Given the description of an element on the screen output the (x, y) to click on. 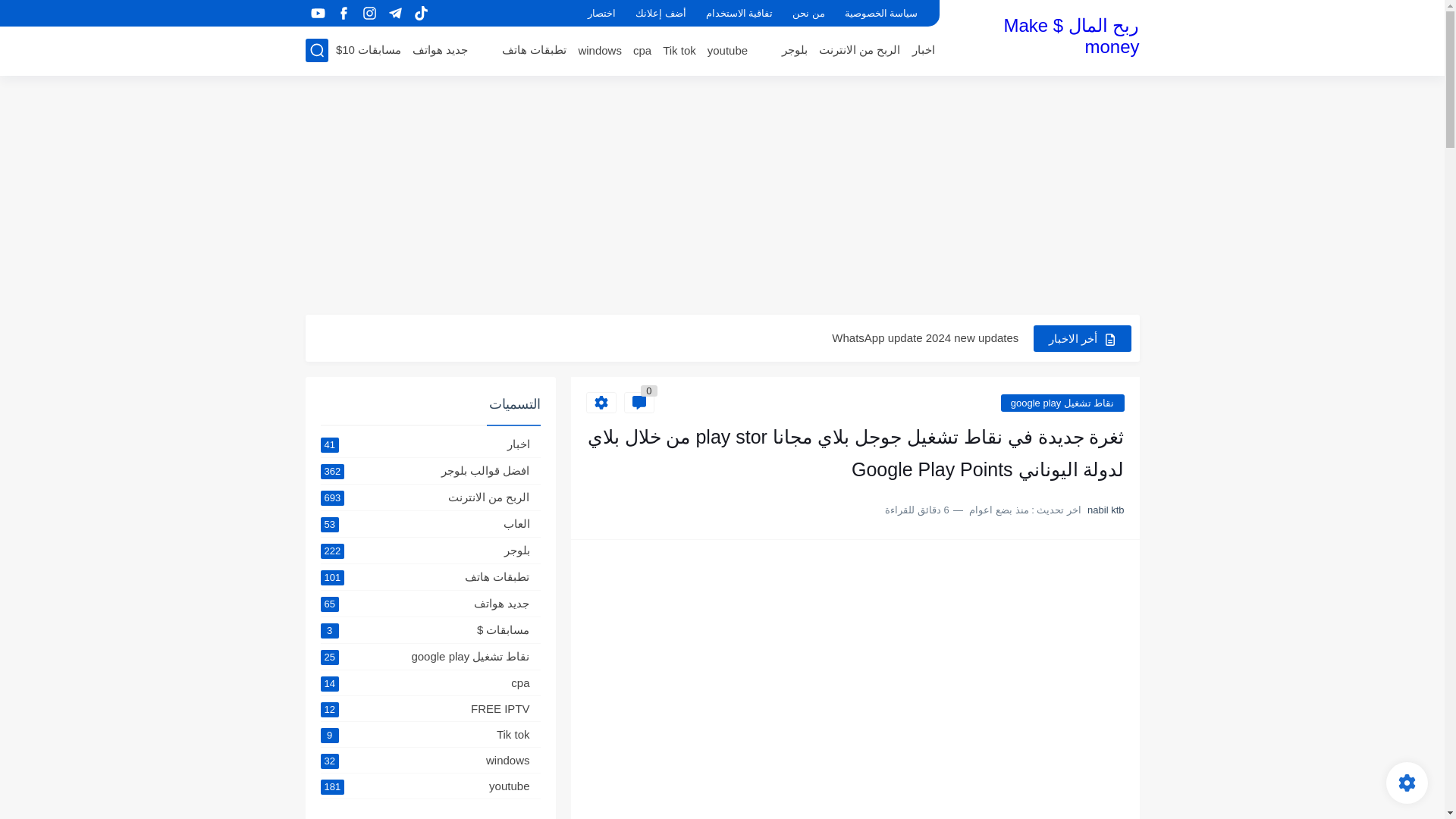
telegram (395, 13)
cpa (641, 50)
Tik tok (678, 50)
windows (599, 50)
Tik tok (678, 50)
youtube (727, 50)
windows (599, 50)
facebook (343, 13)
youtube (317, 13)
youtube (727, 50)
